Given the description of an element on the screen output the (x, y) to click on. 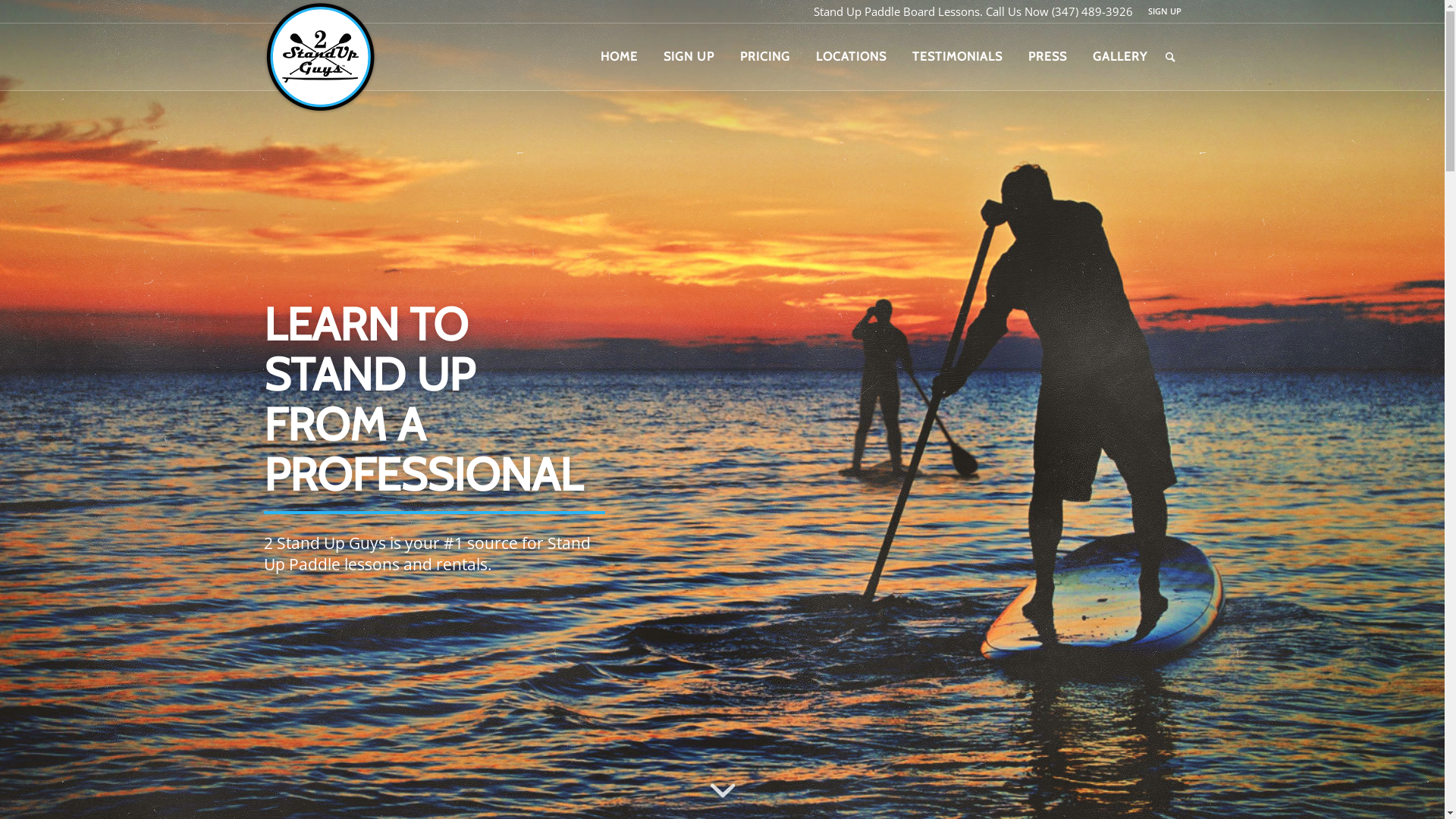
GALLERY Element type: text (1119, 56)
PRESS Element type: text (1046, 56)
PRICING Element type: text (764, 56)
LOCATIONS Element type: text (850, 56)
HOME Element type: text (617, 56)
TESTIMONIALS Element type: text (957, 56)
SIGN UP Element type: text (1164, 10)
SIGN UP Element type: text (688, 56)
